Given the description of an element on the screen output the (x, y) to click on. 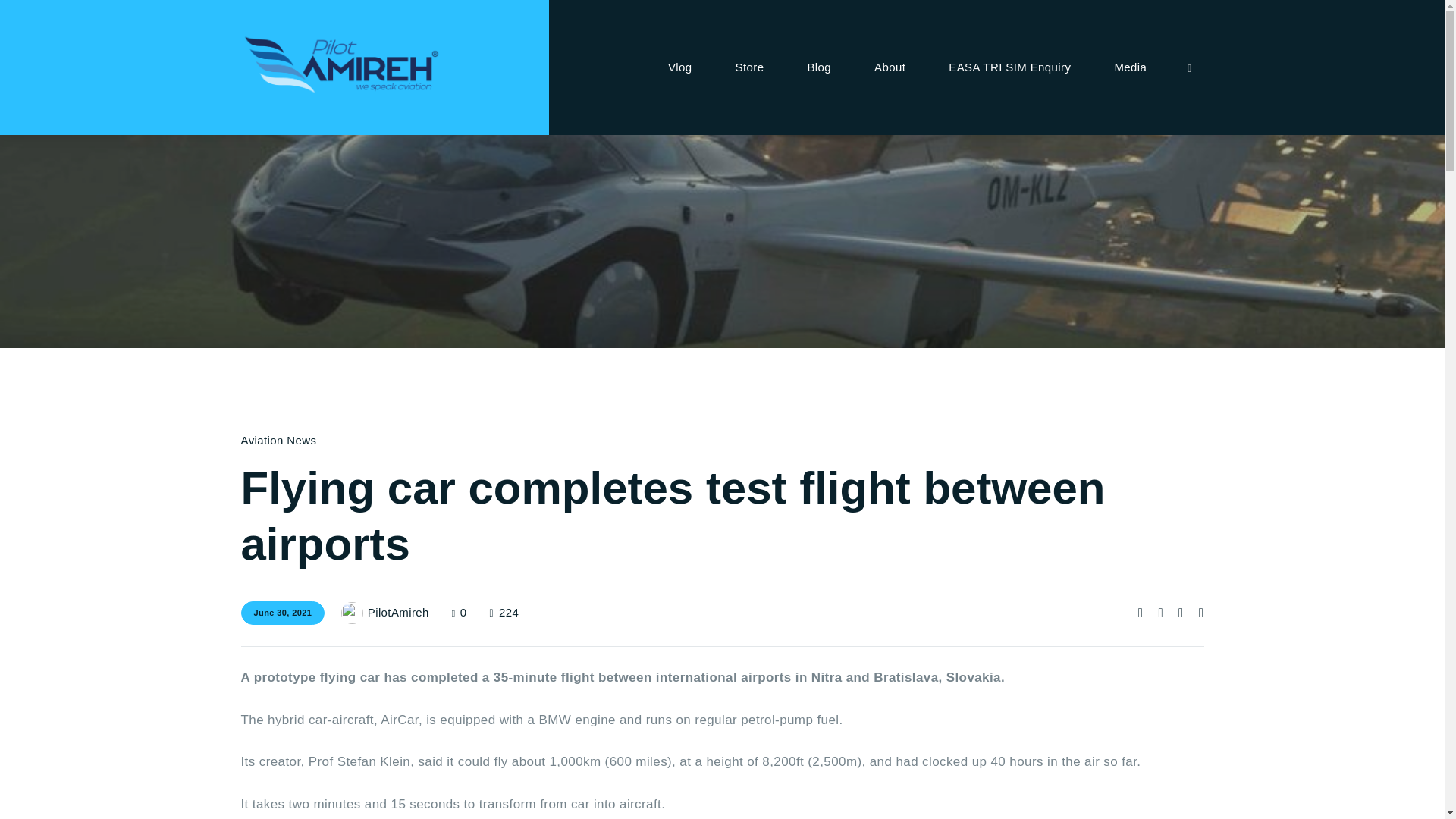
224 (503, 613)
PilotAmireh (395, 612)
0 (470, 613)
About (890, 67)
EASA TRI SIM Enquiry (1010, 67)
Copy URL to clipboard (1201, 613)
Store (749, 67)
Vlog (679, 67)
Blog (819, 67)
Media (1131, 67)
Aviation News (279, 440)
